Given the description of an element on the screen output the (x, y) to click on. 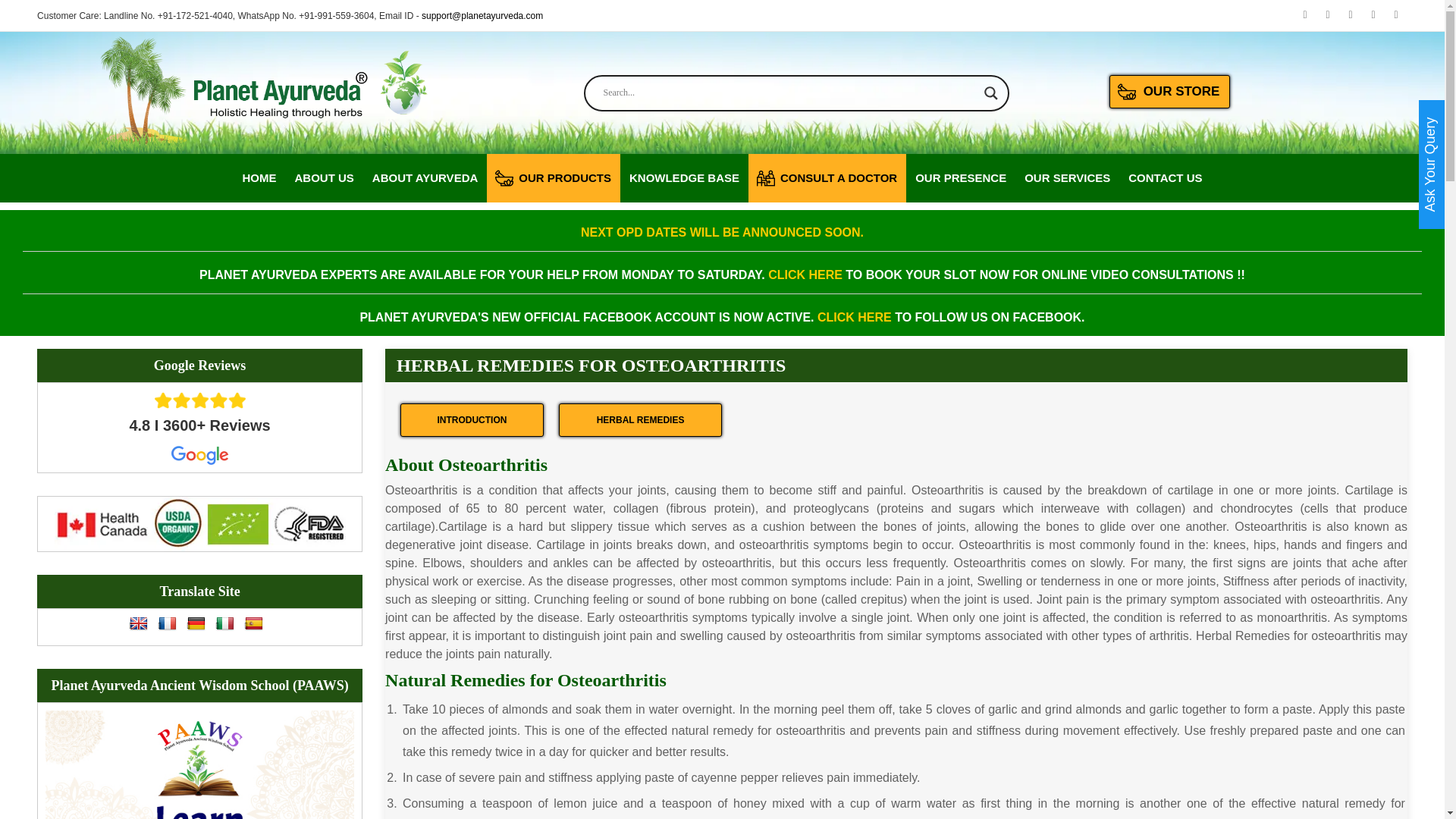
OUR STORE (1169, 91)
Italian (224, 623)
pinterest (1395, 15)
French (167, 623)
OUR PRODUCTS (553, 177)
German (196, 623)
CLICK HERE (805, 274)
INTRODUCTION (471, 419)
OUR PRESENCE (960, 177)
Twitter (1350, 15)
KNOWLEDGE BASE (683, 177)
CLICK HERE (853, 317)
HOME (258, 177)
instagram (1372, 15)
English (138, 623)
